Given the description of an element on the screen output the (x, y) to click on. 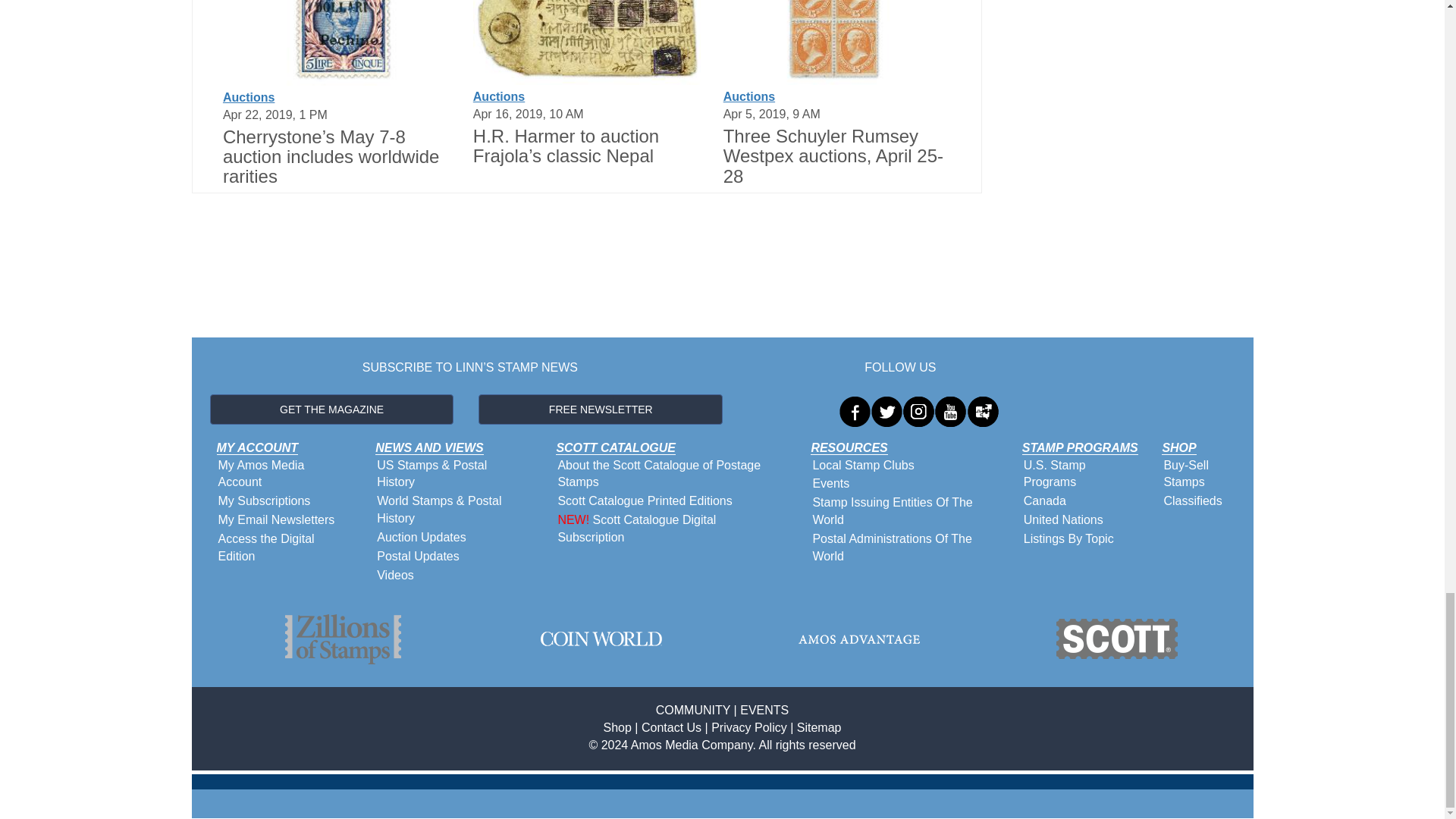
3rd party ad content (587, 274)
